Given the description of an element on the screen output the (x, y) to click on. 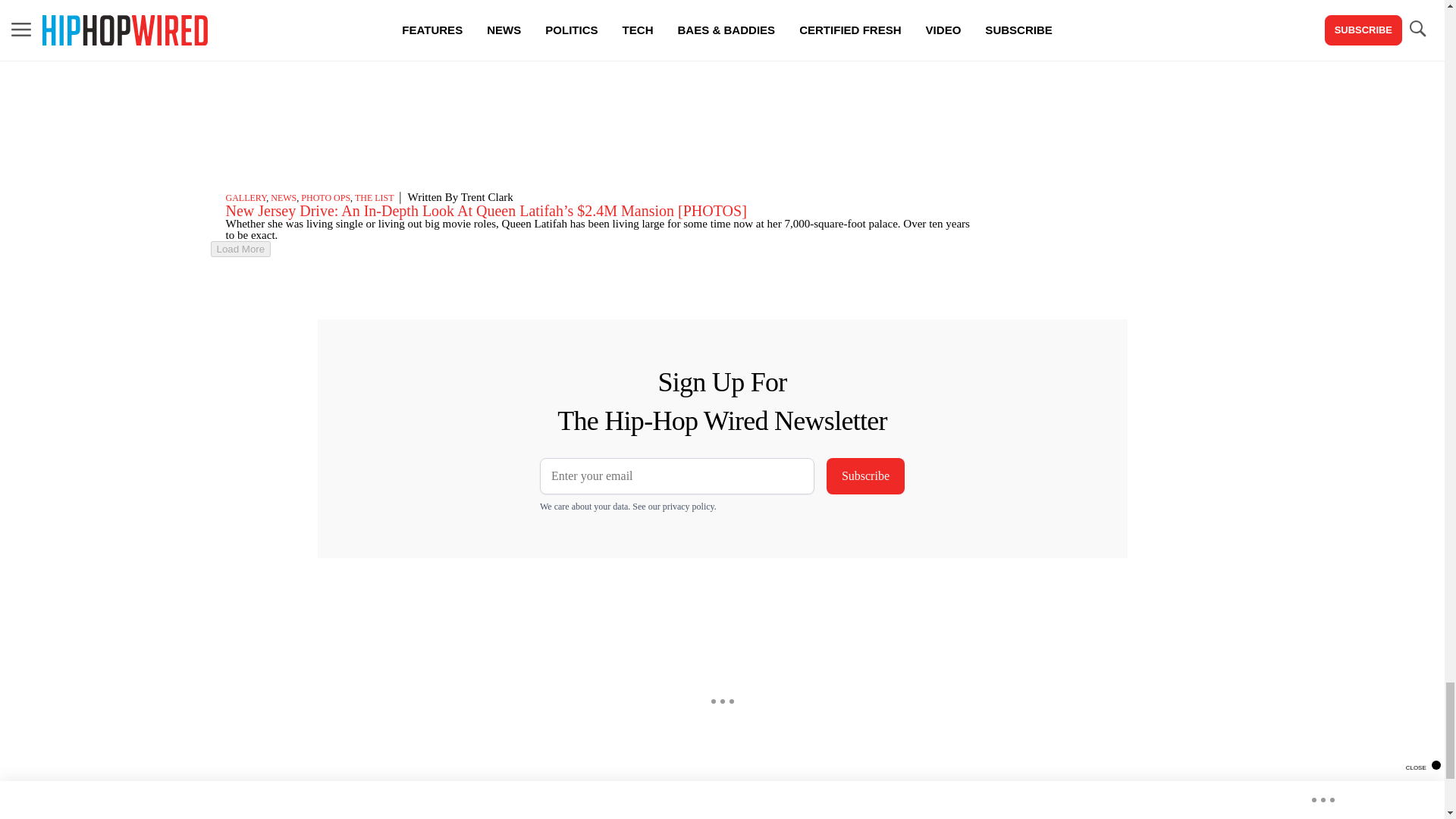
Load More (240, 248)
Load More (596, 248)
